Given the description of an element on the screen output the (x, y) to click on. 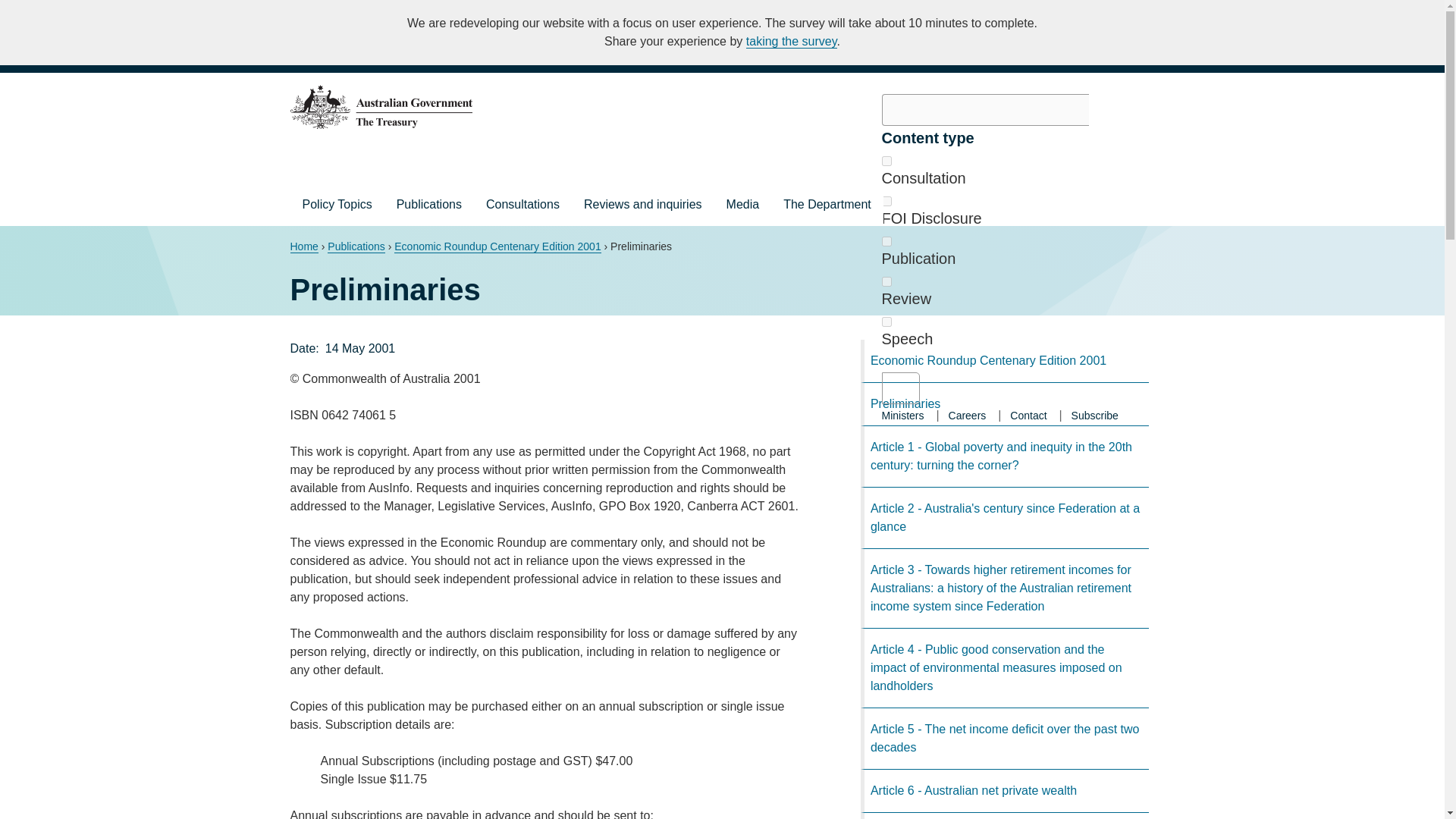
Reviews and inquiries (643, 204)
review (885, 281)
The Department (827, 204)
speech (885, 321)
Media (742, 204)
publication (885, 241)
Policy Topics (336, 204)
Economic Roundup Centenary Edition 2001 (496, 246)
taking the survey (791, 41)
Careers (968, 415)
